Given the description of an element on the screen output the (x, y) to click on. 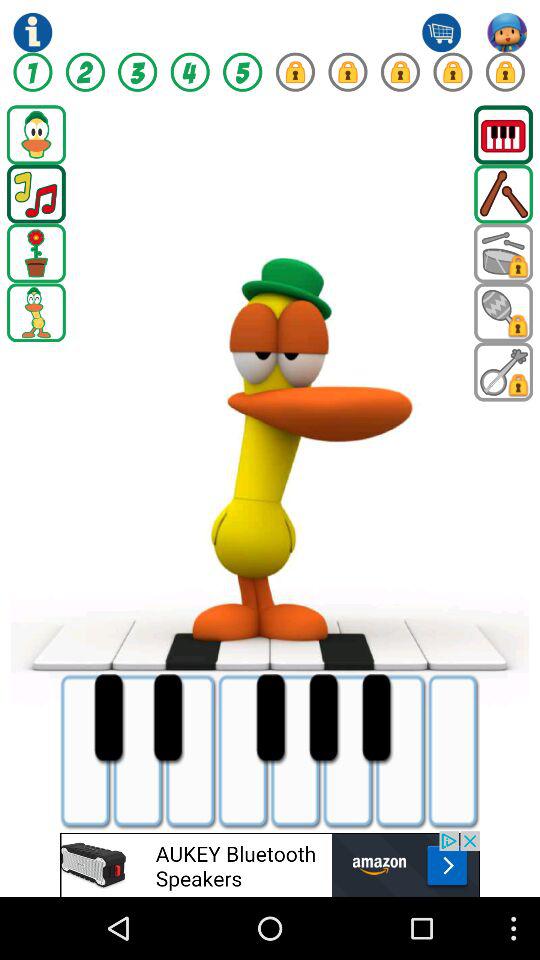
menu (503, 134)
